Given the description of an element on the screen output the (x, y) to click on. 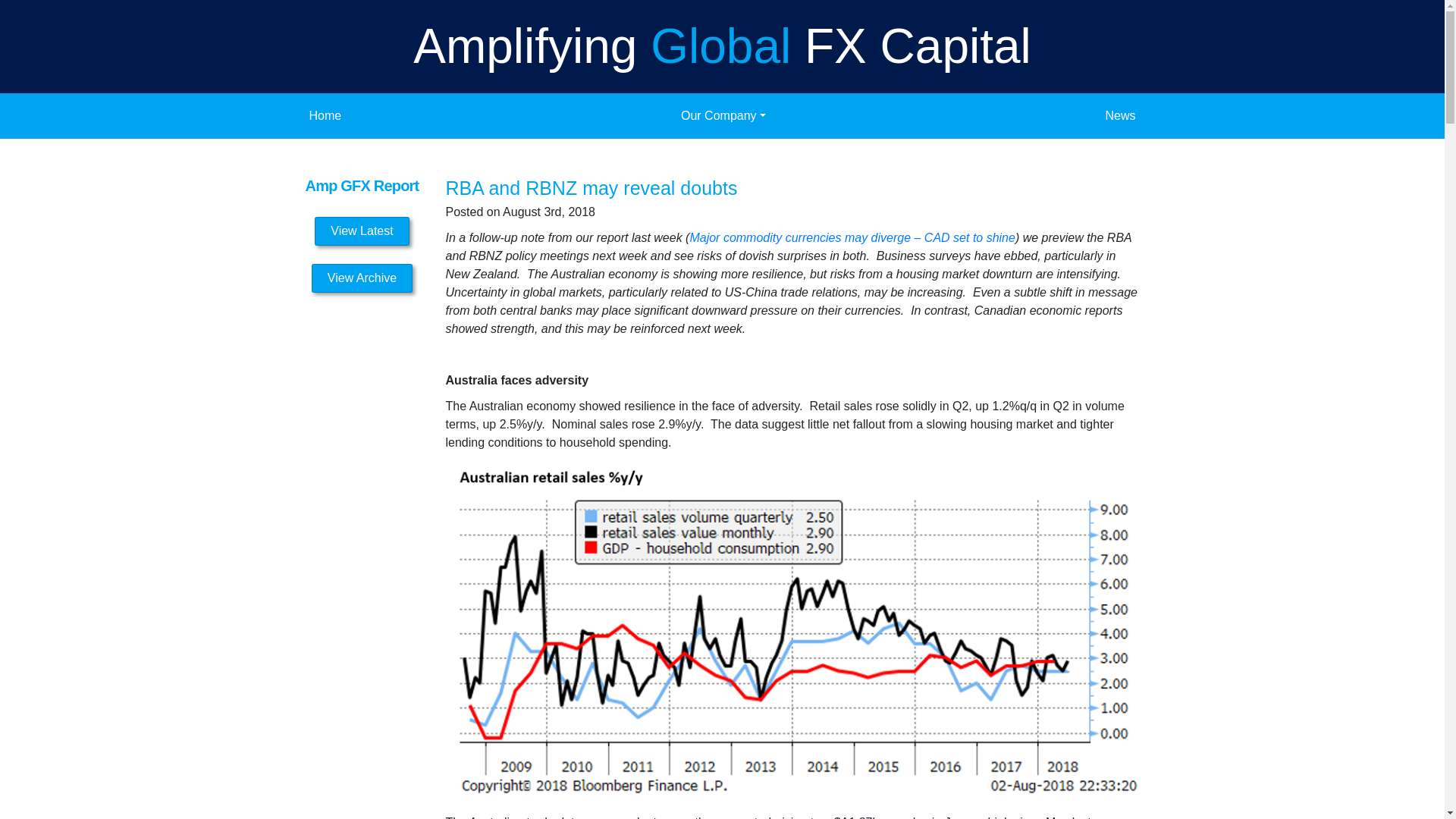
News (1120, 115)
View Latest (361, 231)
Amplifying Global FX Capital (721, 46)
Our Company (723, 115)
Home (325, 115)
View Archive (361, 277)
